Given the description of an element on the screen output the (x, y) to click on. 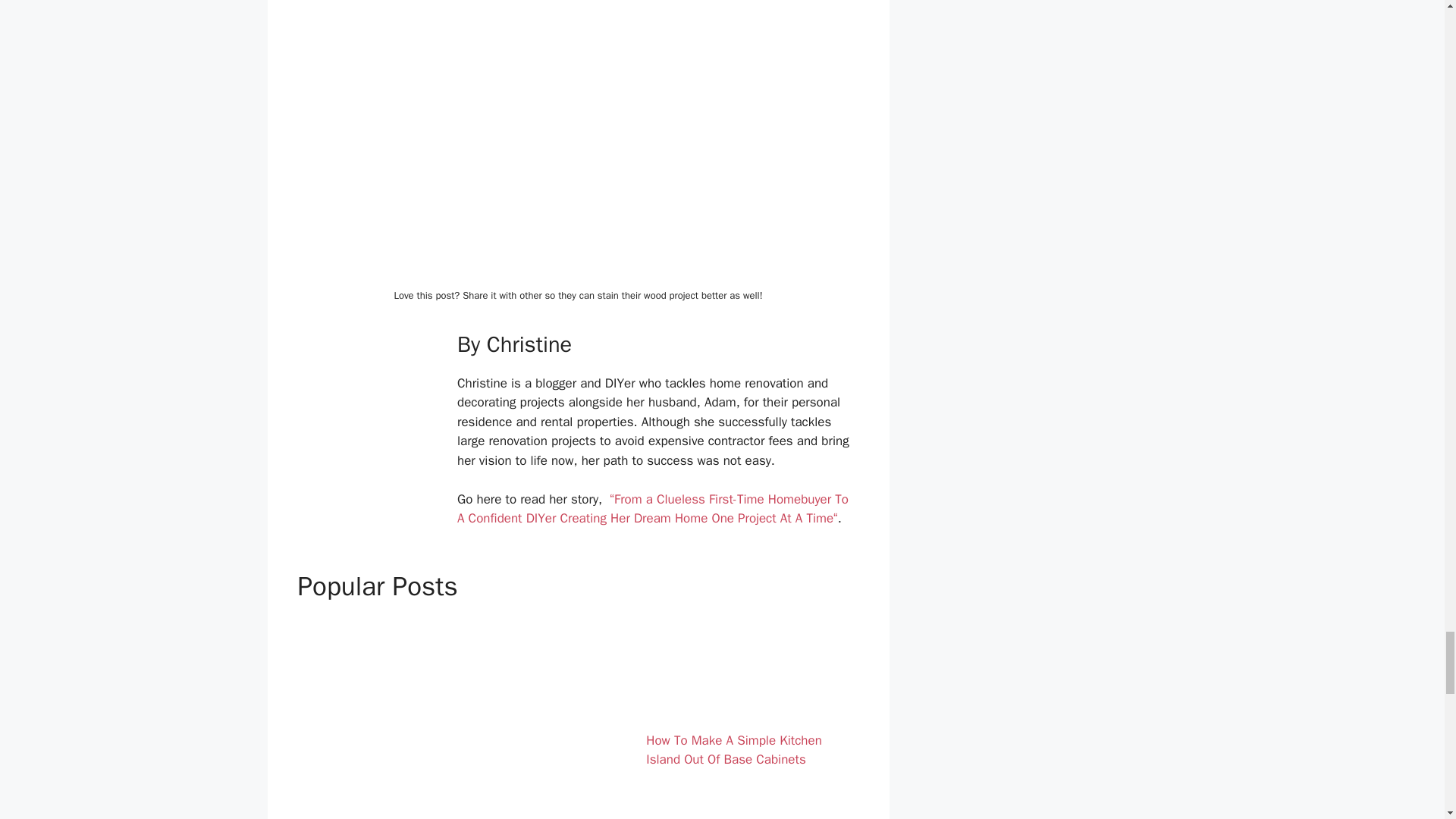
How To Make A Simple Kitchen Island Out Of Base Cabinets (734, 750)
